Given the description of an element on the screen output the (x, y) to click on. 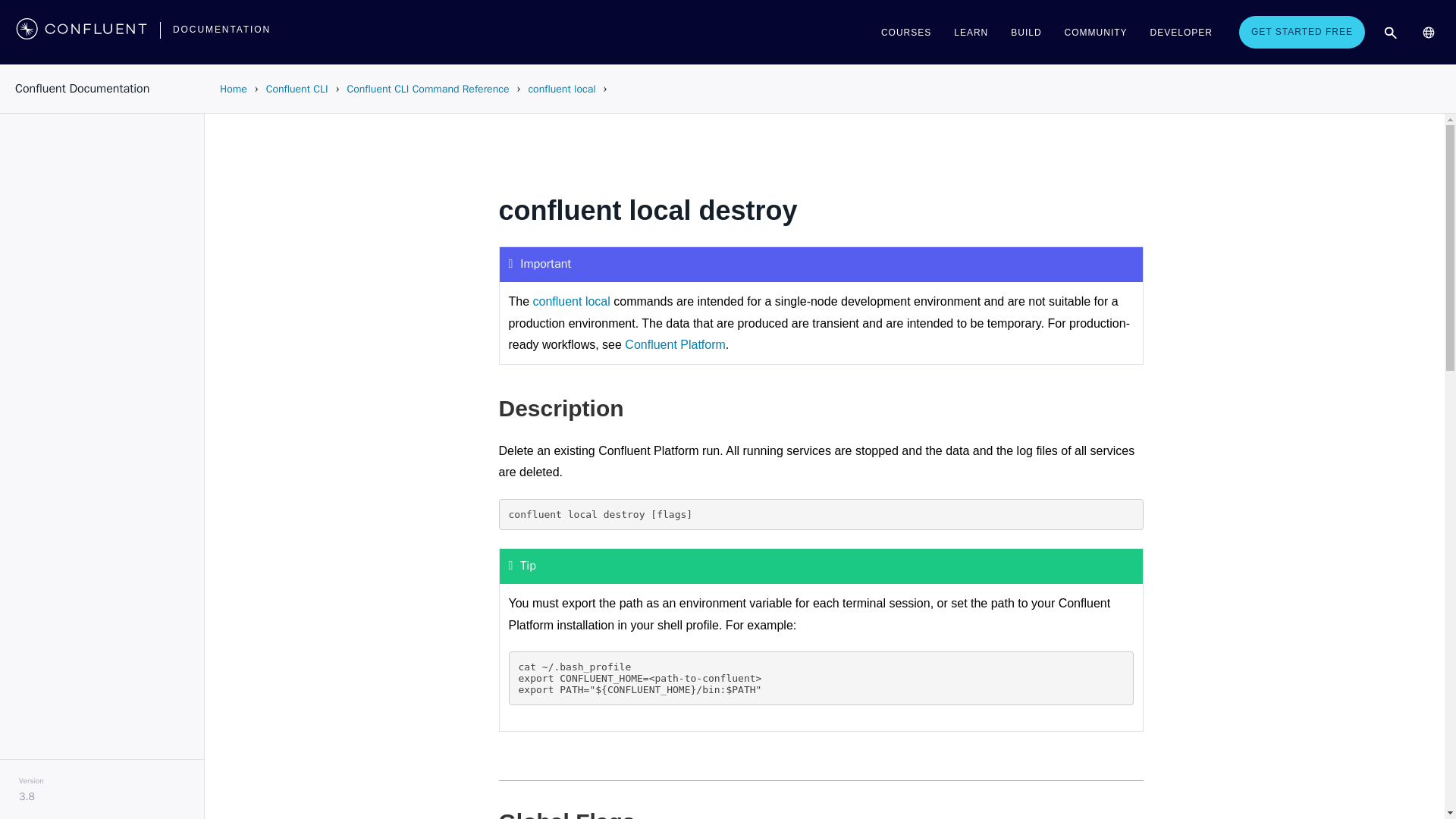
Confluent (81, 31)
Documentation (221, 29)
DOCUMENTATION (221, 29)
